Given the description of an element on the screen output the (x, y) to click on. 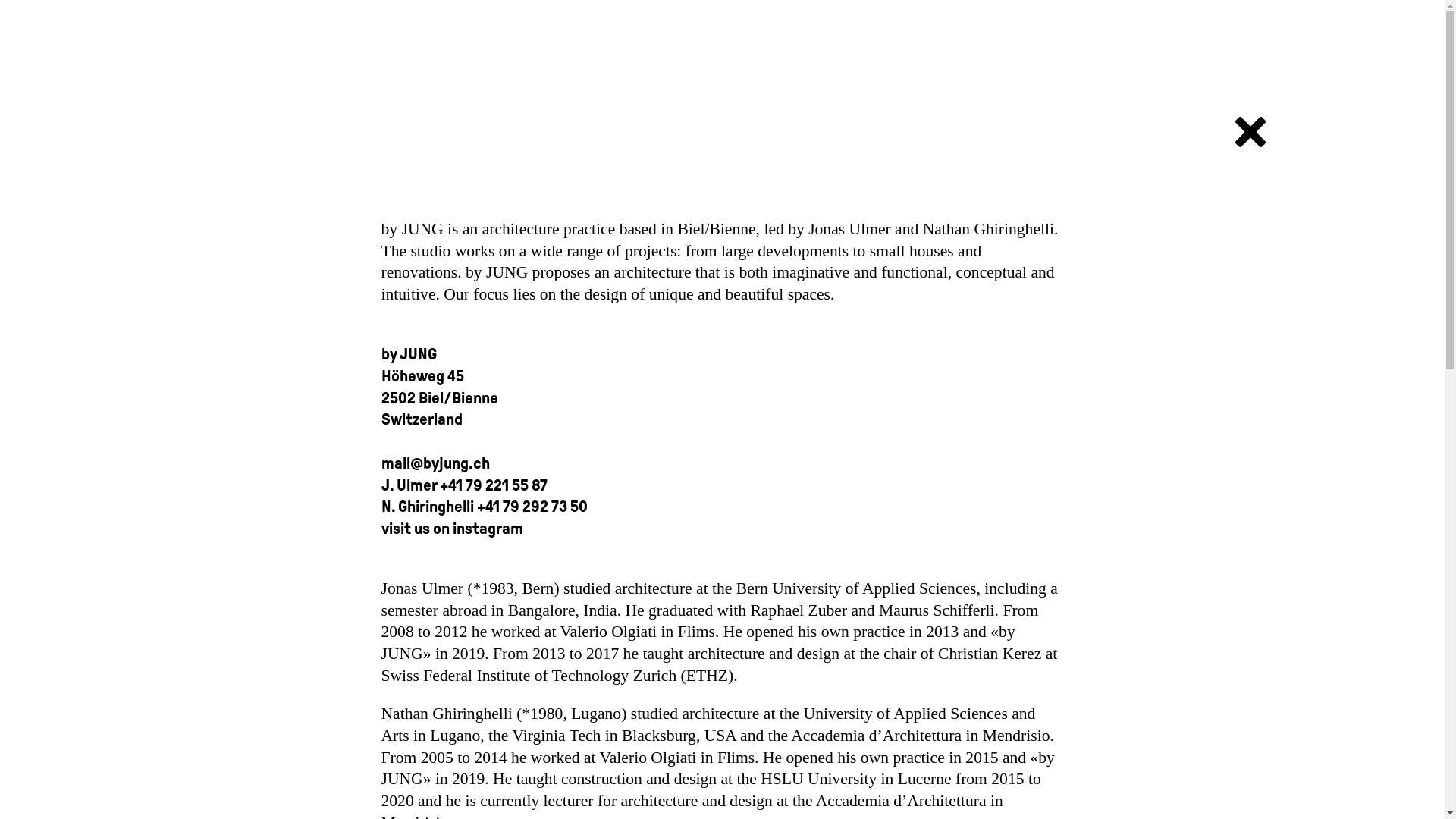
mail@byjung.ch Element type: text (434, 463)
visit us on instagram Element type: text (451, 528)
